Given the description of an element on the screen output the (x, y) to click on. 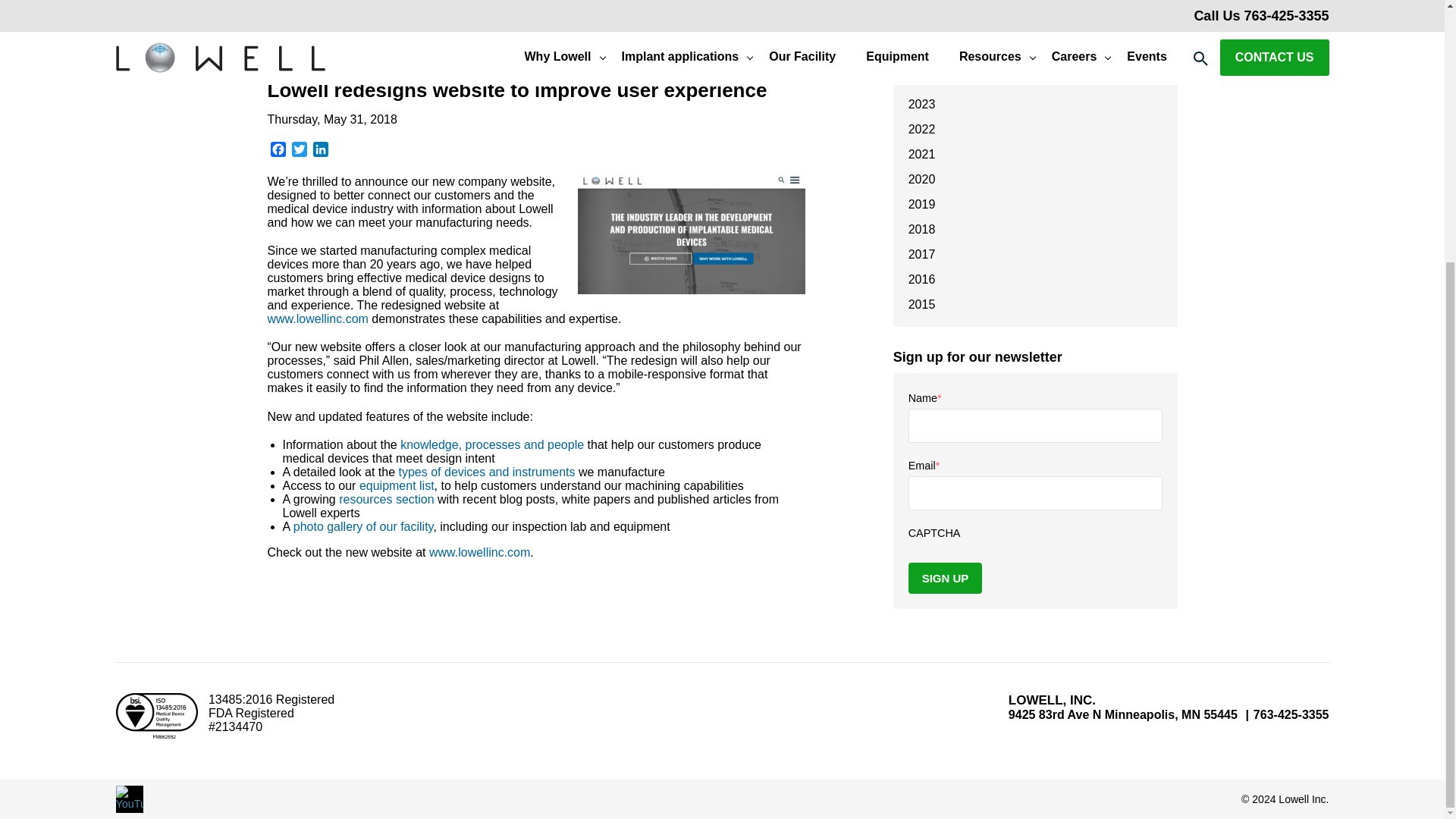
photo gallery of our facility (363, 526)
LinkedIn (319, 150)
resources section (386, 499)
knowledge, processes and people (491, 444)
Twitter (298, 150)
Twitter (298, 150)
equipment list (396, 485)
Facebook (277, 150)
www.lowellinc.com (317, 318)
types of devices and instruments (486, 472)
